Given the description of an element on the screen output the (x, y) to click on. 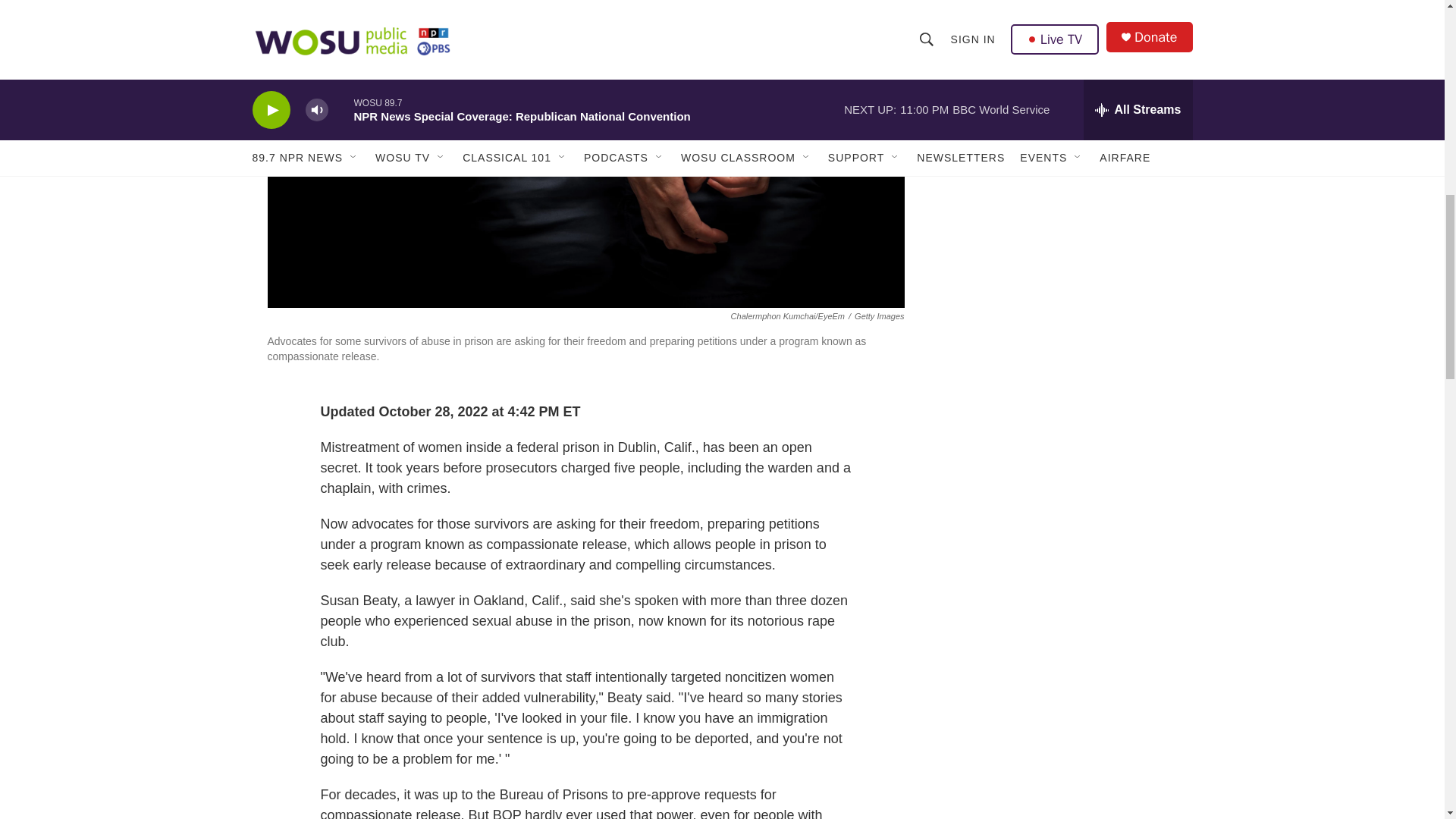
3rd party ad content (1062, 58)
